Given the description of an element on the screen output the (x, y) to click on. 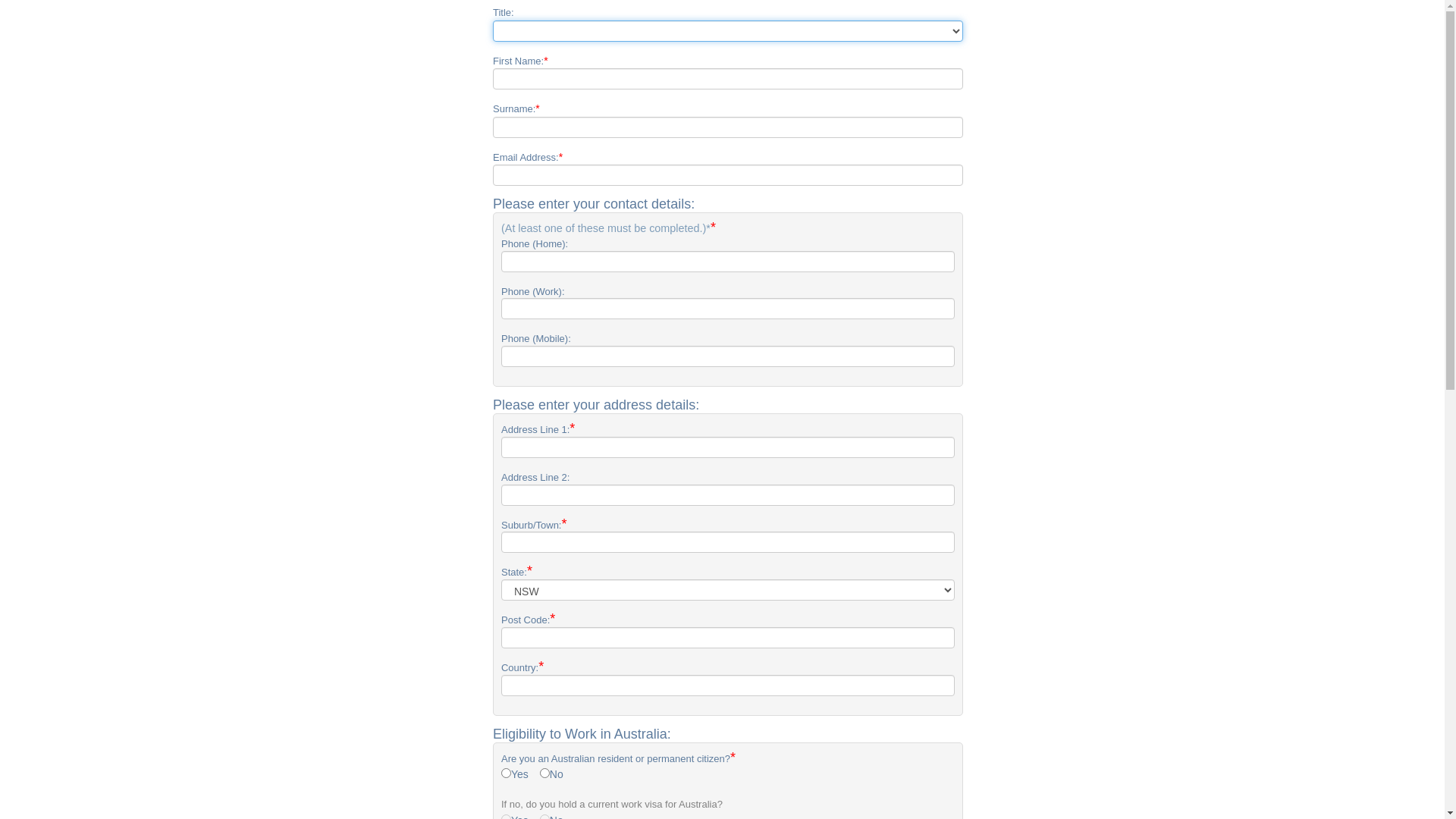
0 Element type: text (544, 773)
1 Element type: text (506, 773)
